Given the description of an element on the screen output the (x, y) to click on. 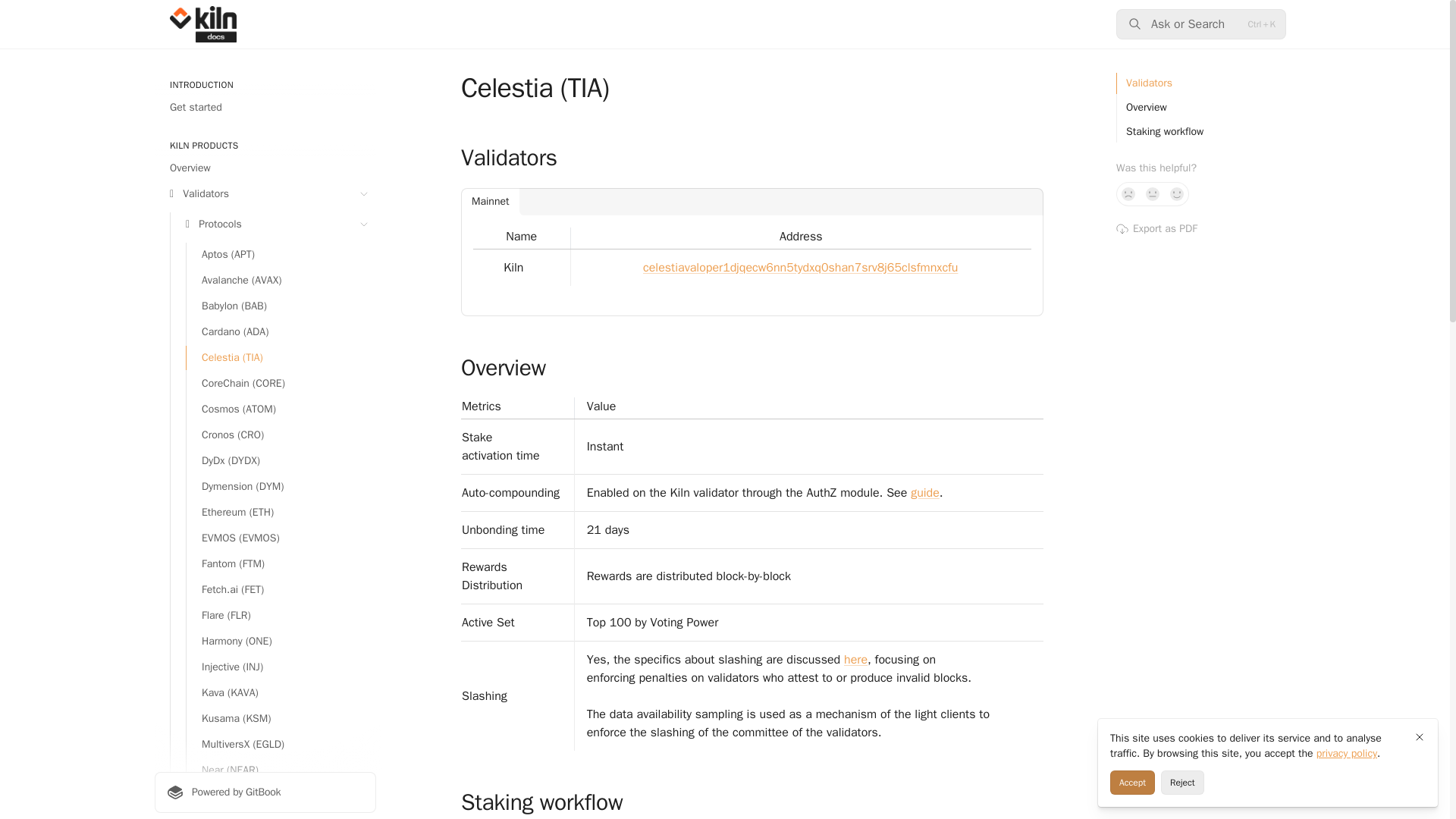
Overview (264, 168)
Yes, it was! (1176, 193)
Not sure (1152, 193)
Get started (264, 107)
Close (1419, 737)
No (1128, 193)
